Given the description of an element on the screen output the (x, y) to click on. 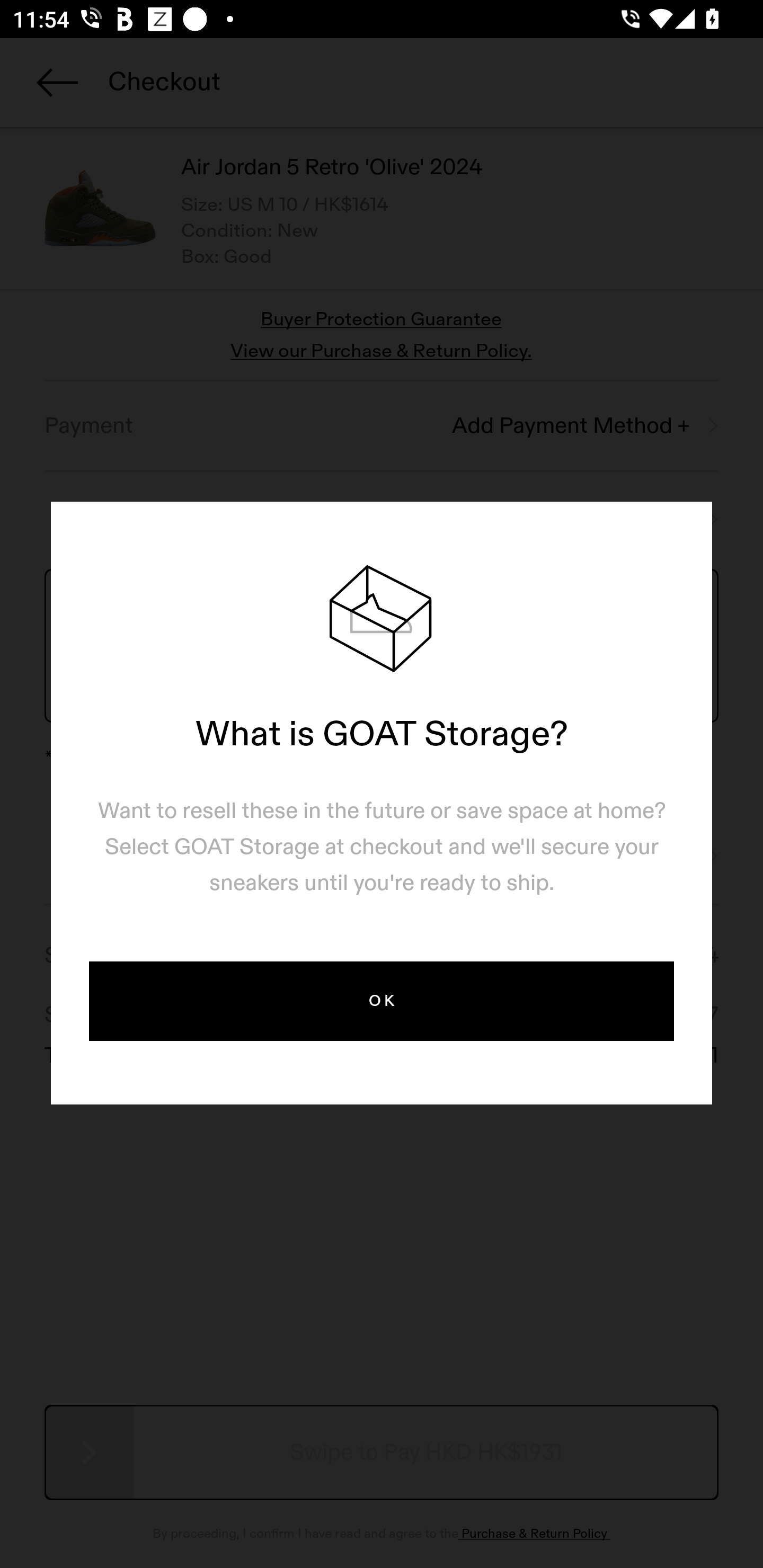
OK (381, 1001)
